Given the description of an element on the screen output the (x, y) to click on. 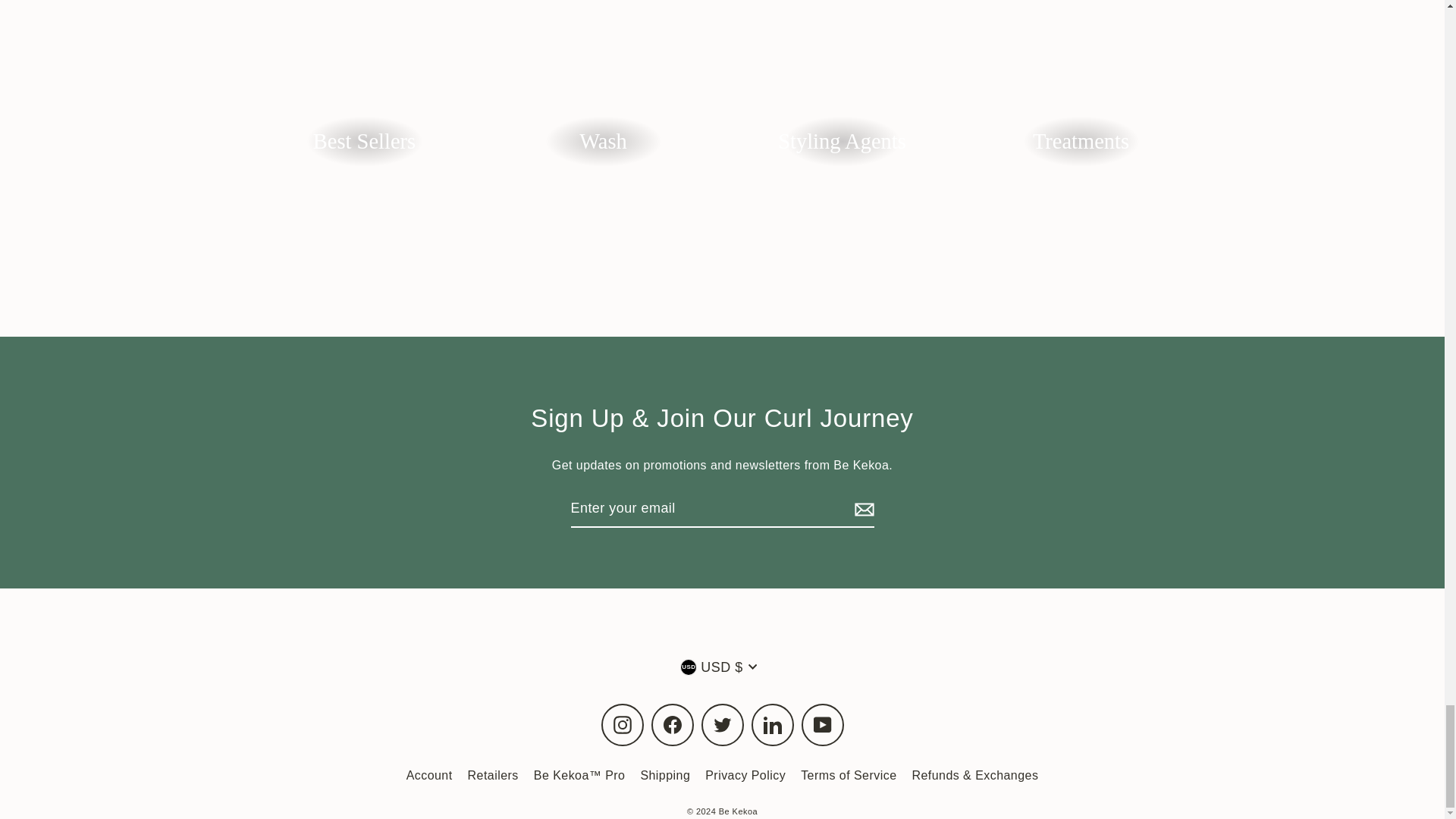
Be Kekoa on Instagram (621, 724)
Be Kekoa on Twitter (721, 724)
Be Kekoa on Facebook (671, 724)
Be Kekoa on LinkedIn (772, 724)
Be Kekoa on YouTube (821, 724)
